Given the description of an element on the screen output the (x, y) to click on. 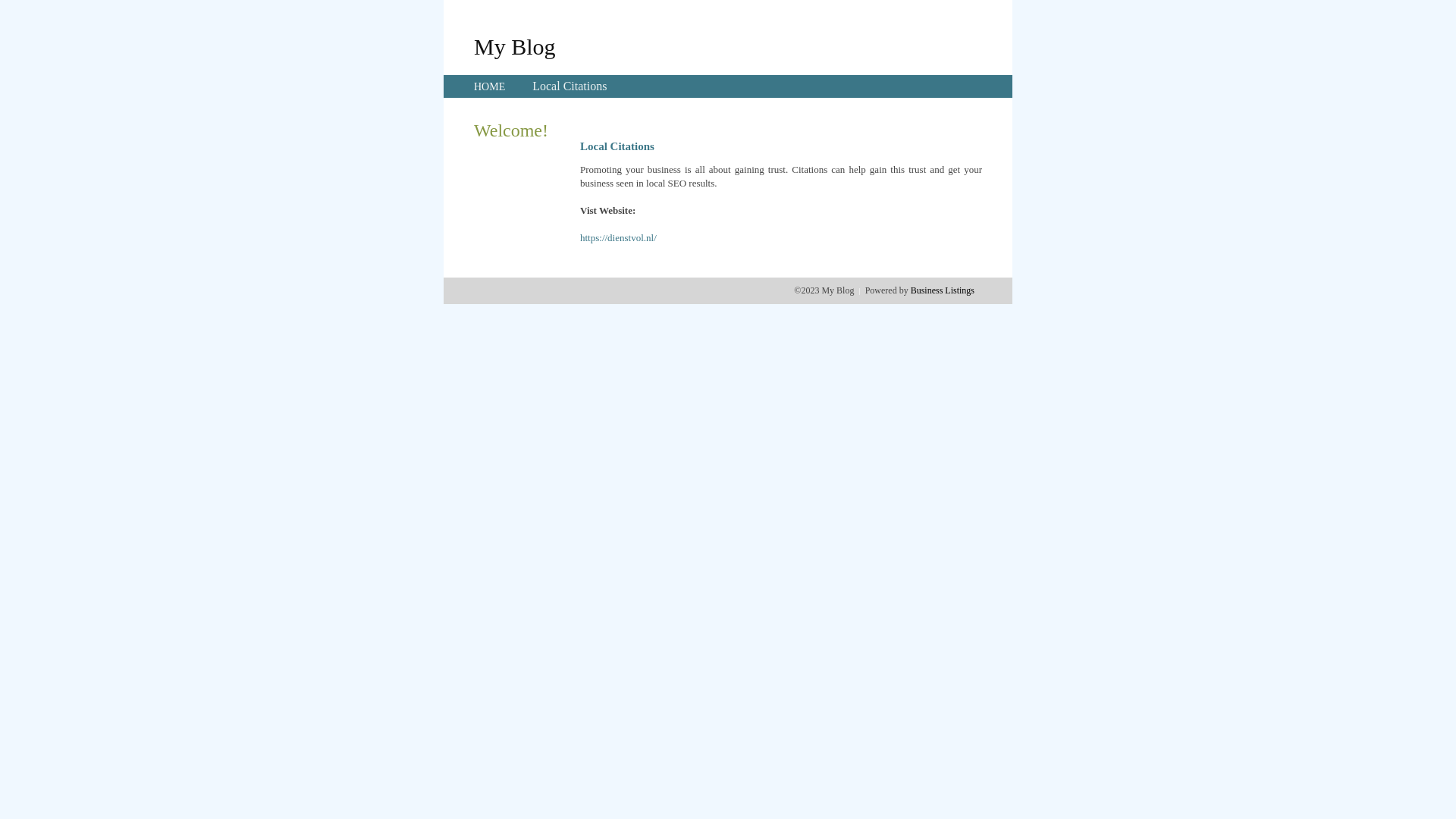
My Blog Element type: text (514, 46)
Business Listings Element type: text (942, 290)
Local Citations Element type: text (569, 85)
https://dienstvol.nl/ Element type: text (618, 237)
HOME Element type: text (489, 86)
